Given the description of an element on the screen output the (x, y) to click on. 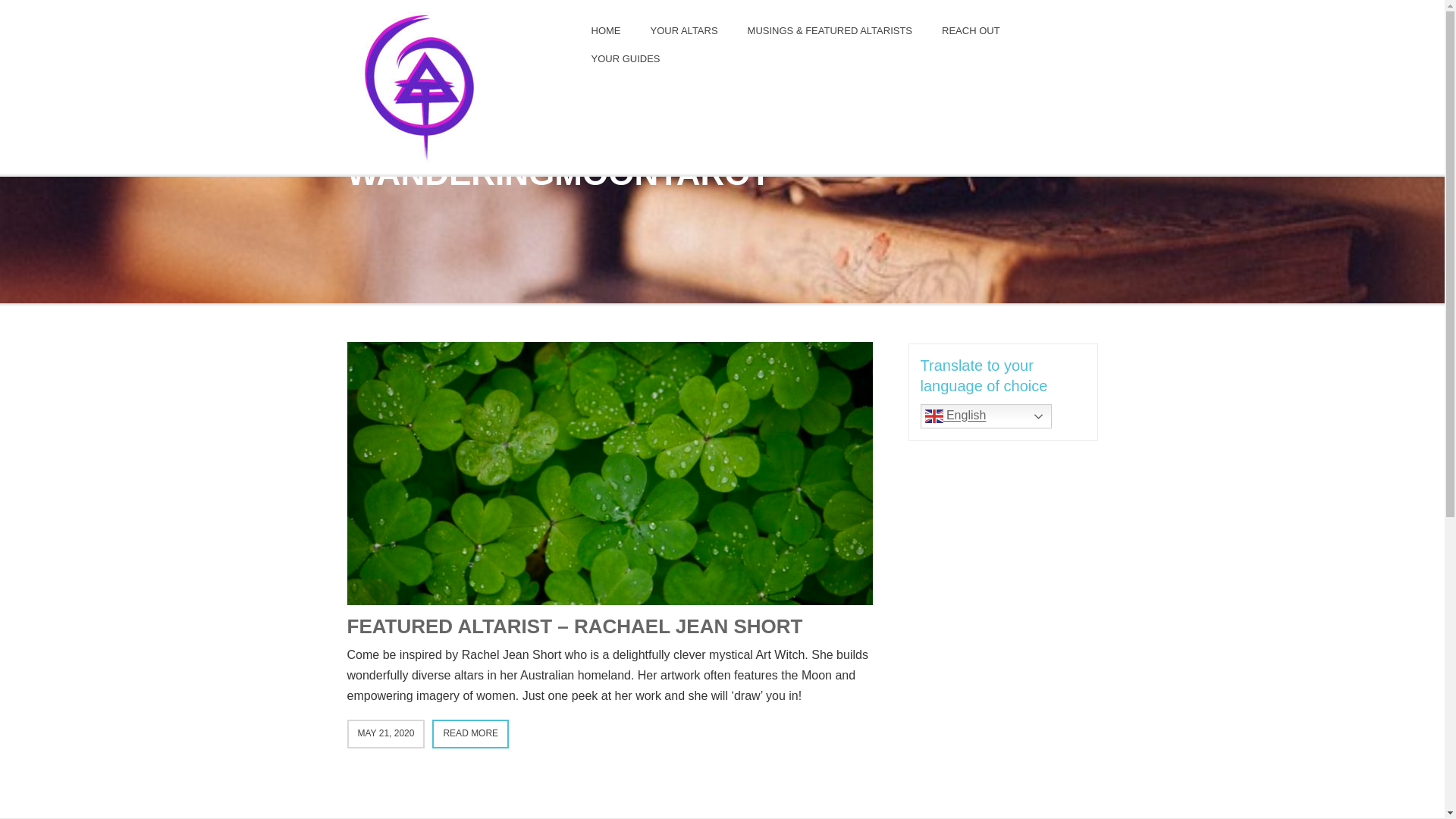
YOUR GUIDES (625, 58)
REACH OUT (970, 30)
READ MORE (470, 733)
HOME (605, 30)
YOUR ALTARS (684, 30)
